Given the description of an element on the screen output the (x, y) to click on. 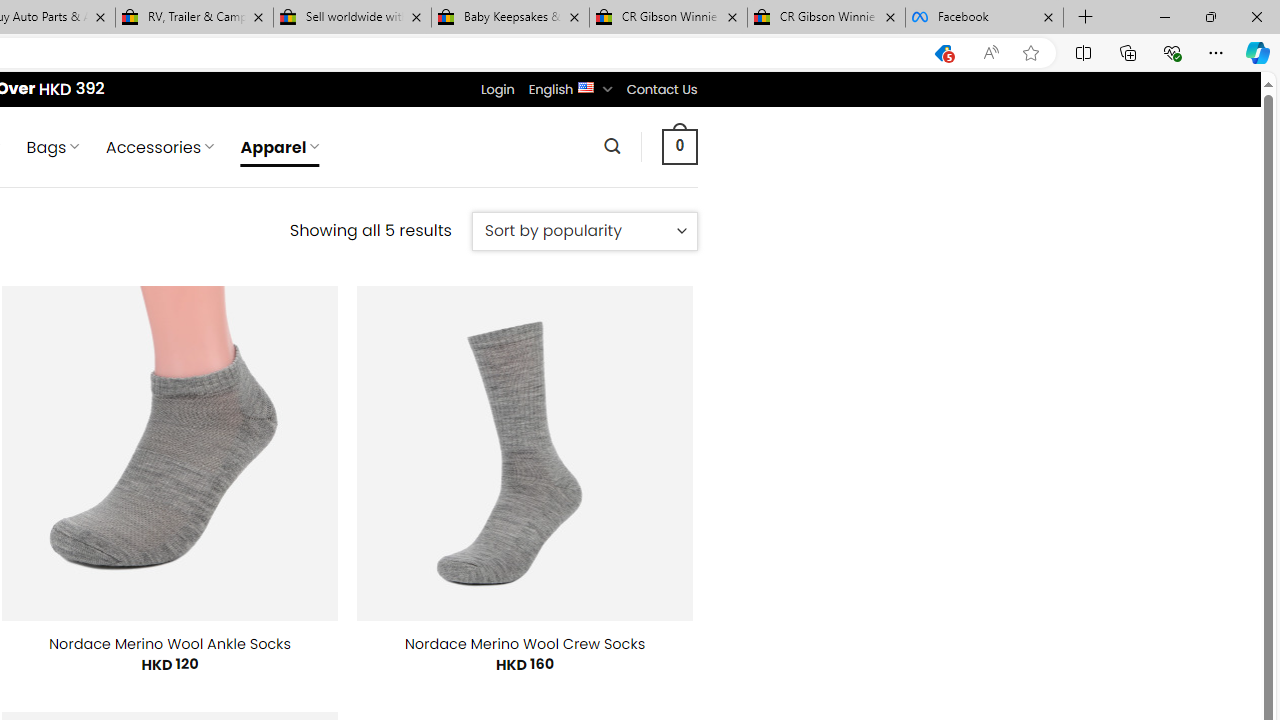
Login (497, 89)
Nordace Merino Wool Crew Socks (525, 643)
RV, Trailer & Camper Steps & Ladders for sale | eBay (194, 17)
 0  (679, 146)
